Given the description of an element on the screen output the (x, y) to click on. 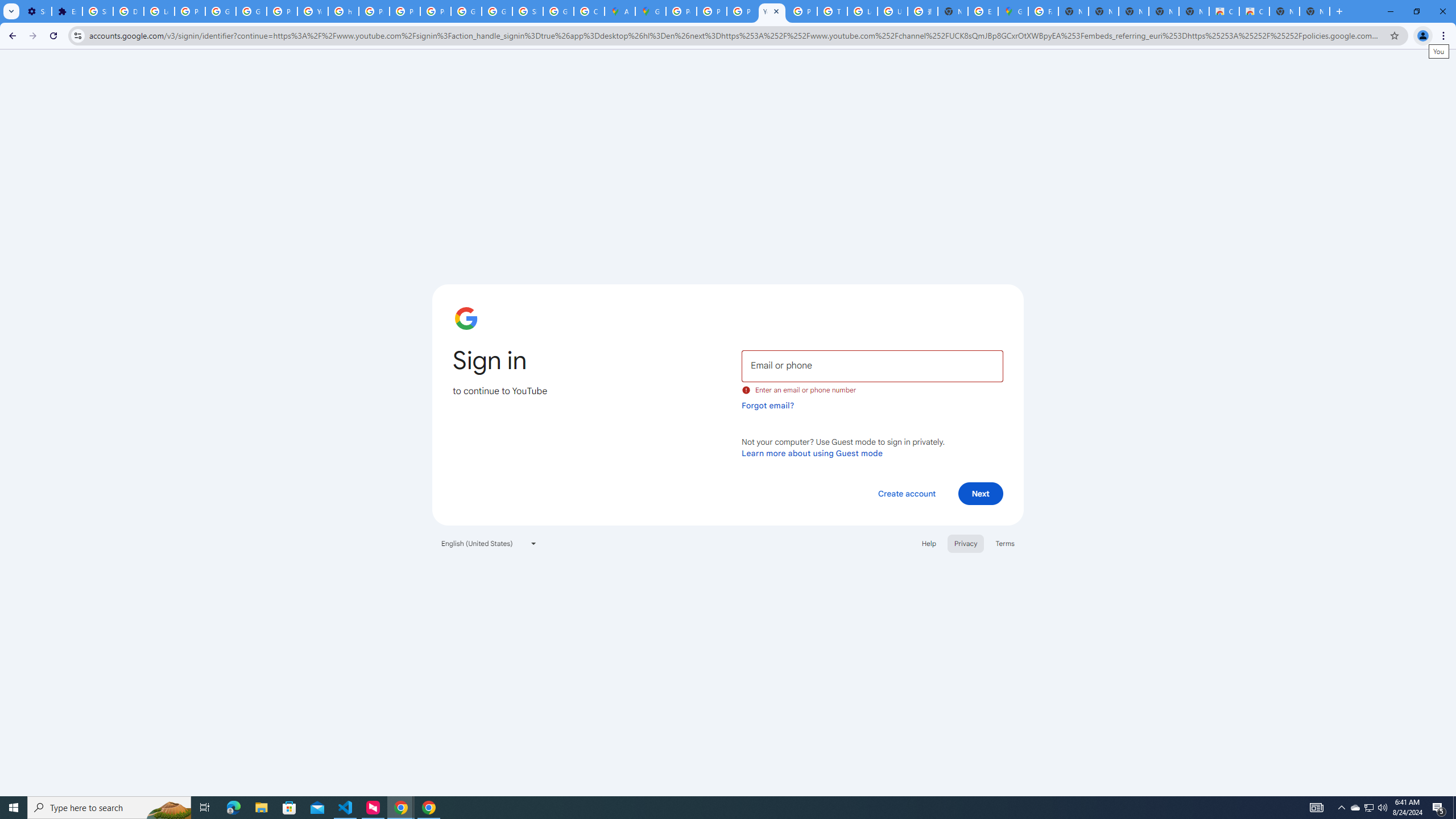
https://scholar.google.com/ (343, 11)
Privacy Help Center - Policies Help (741, 11)
Classic Blue - Chrome Web Store (1224, 11)
English (United States) (489, 542)
Privacy Help Center - Policies Help (711, 11)
Create your Google Account (589, 11)
Google Maps (1012, 11)
